Given the description of an element on the screen output the (x, y) to click on. 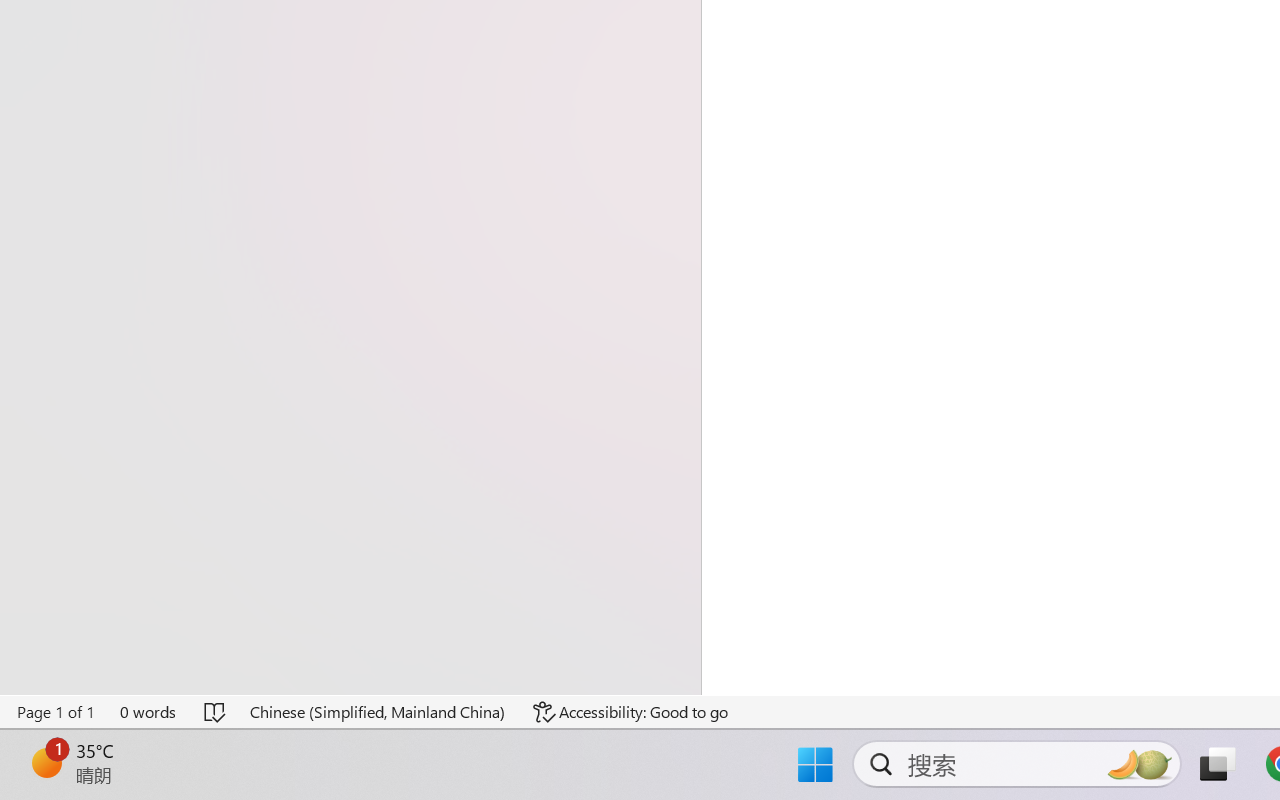
Language Chinese (Simplified, Mainland China) (378, 712)
